Given the description of an element on the screen output the (x, y) to click on. 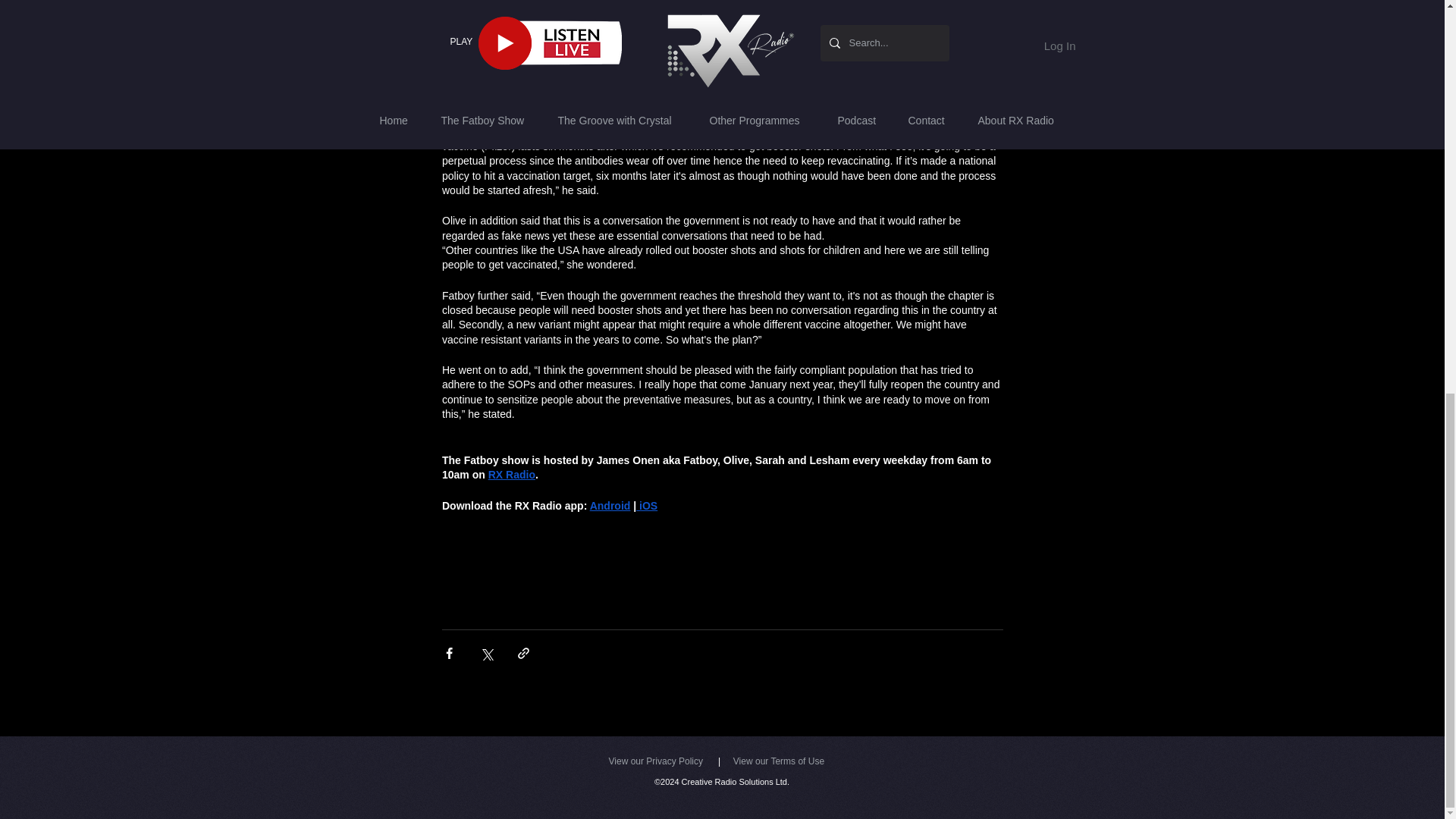
View our Privacy Policy (655, 760)
Android (609, 505)
 iOS (647, 505)
View our Terms of Use (778, 760)
RX Radio (510, 474)
